Given the description of an element on the screen output the (x, y) to click on. 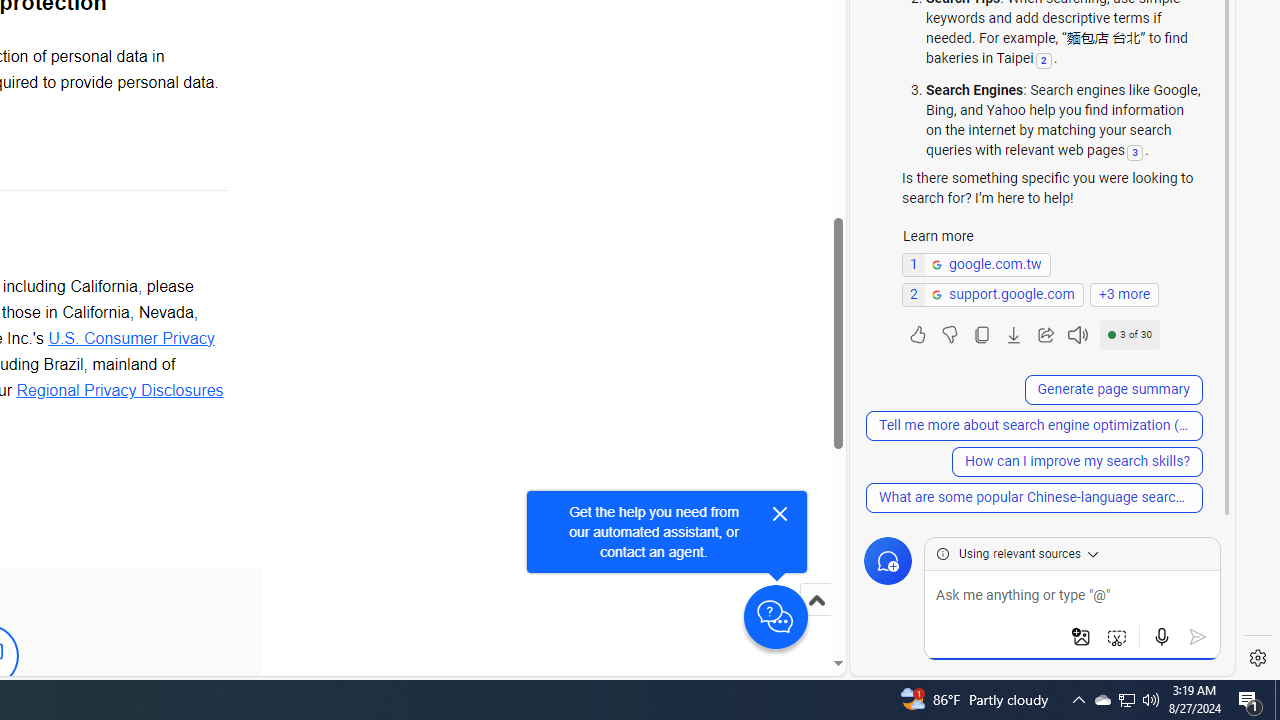
Scroll to top (816, 599)
Regional Privacy Disclosures - opens in new window or tab (119, 389)
Scroll to top (816, 620)
